Given the description of an element on the screen output the (x, y) to click on. 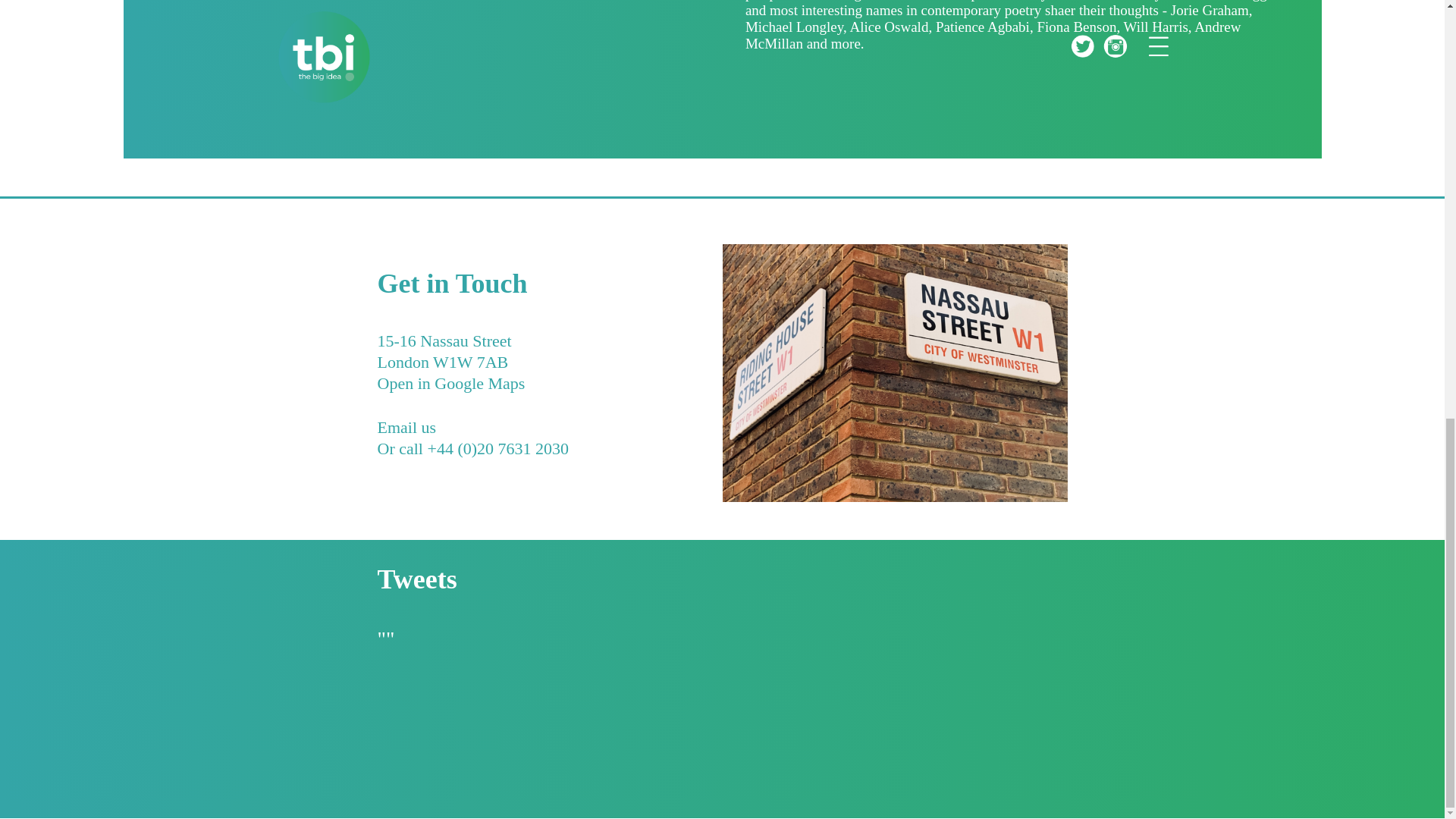
Email us (406, 438)
Open in Google Maps (451, 394)
